Given the description of an element on the screen output the (x, y) to click on. 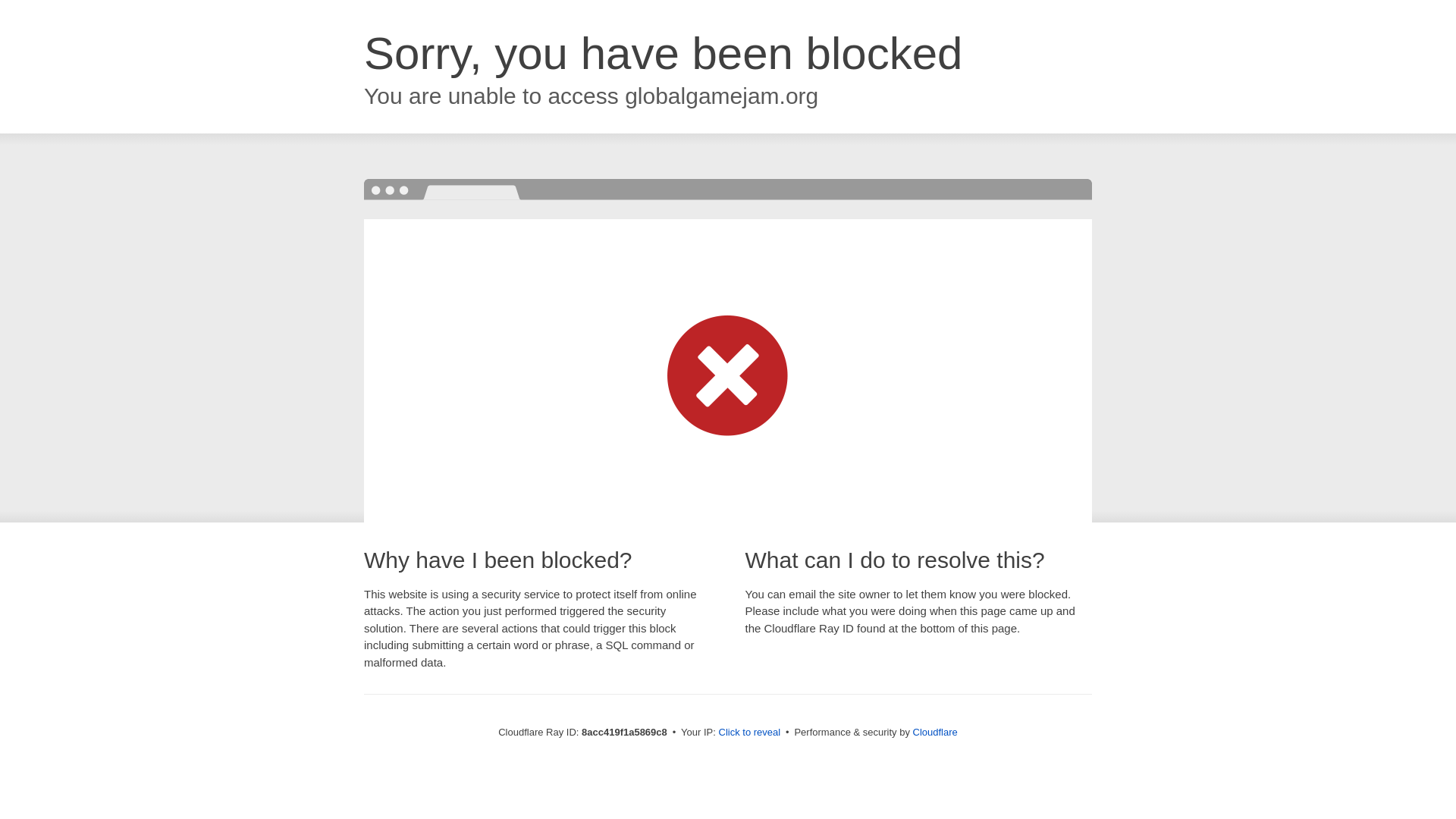
Cloudflare (935, 731)
Click to reveal (749, 732)
